Given the description of an element on the screen output the (x, y) to click on. 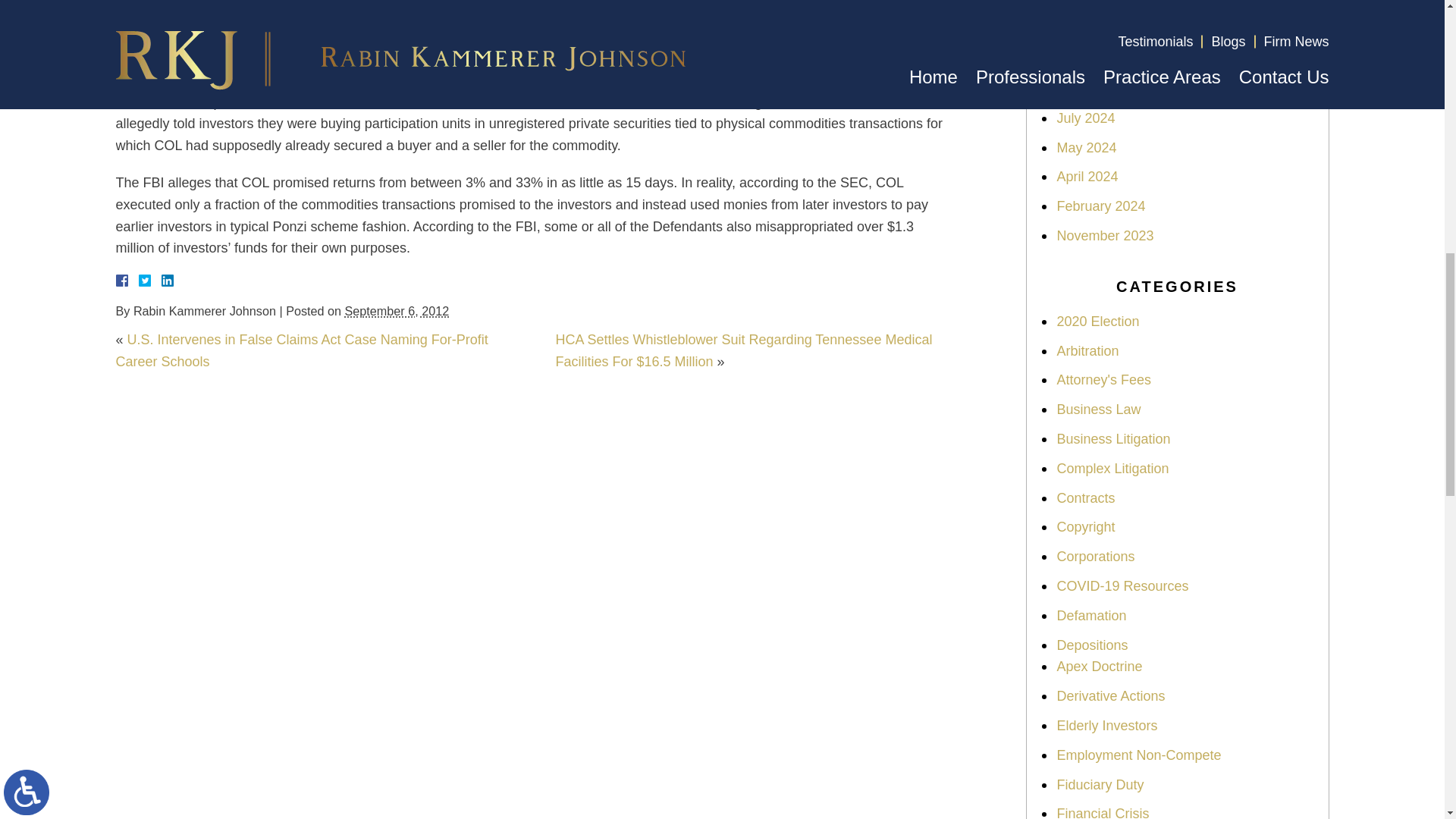
LinkedIn (160, 280)
Twitter (149, 280)
2012-09-06T00:00:00-0700 (397, 310)
Facebook (139, 280)
